Given the description of an element on the screen output the (x, y) to click on. 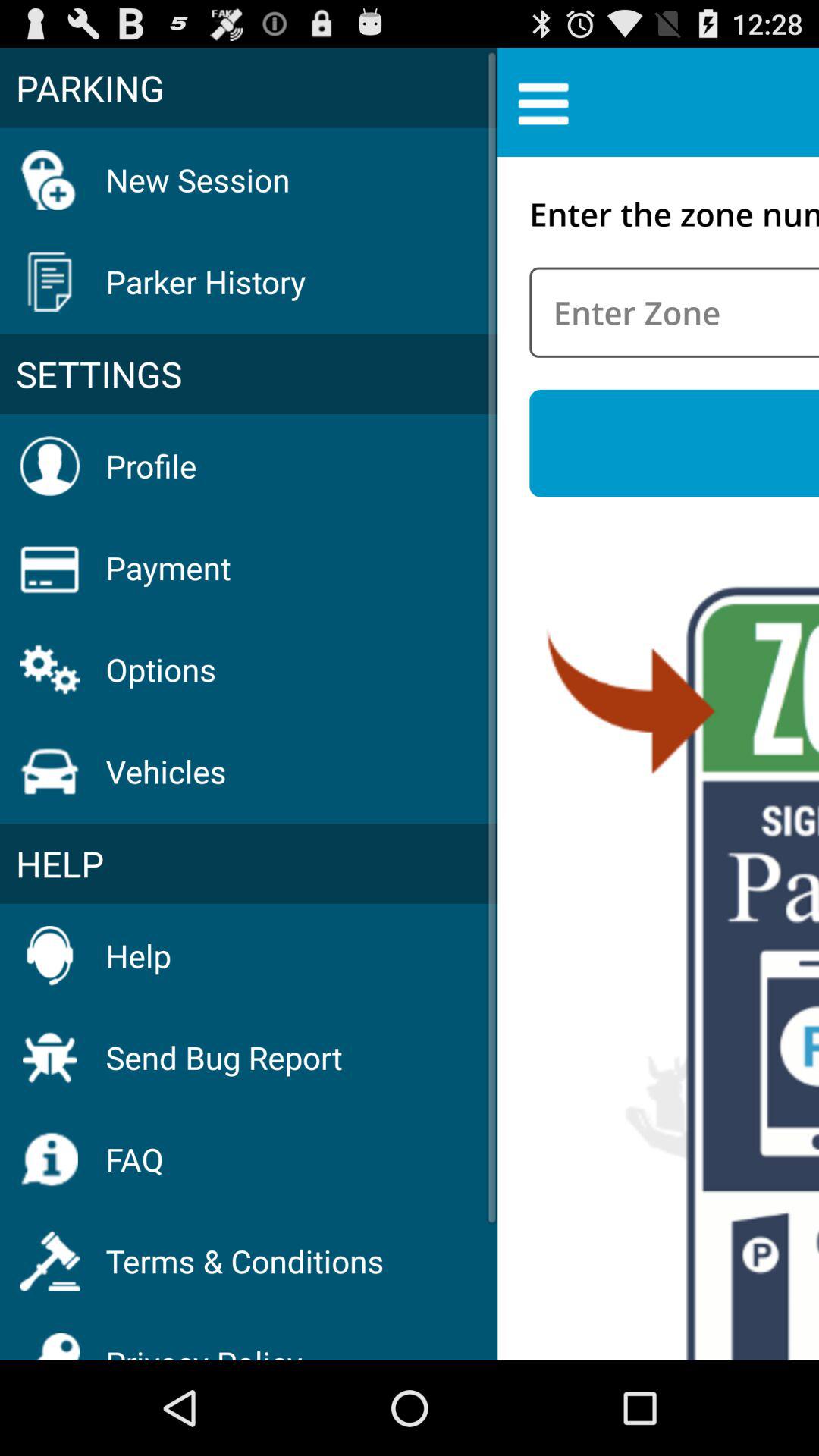
launch item below settings item (150, 465)
